Given the description of an element on the screen output the (x, y) to click on. 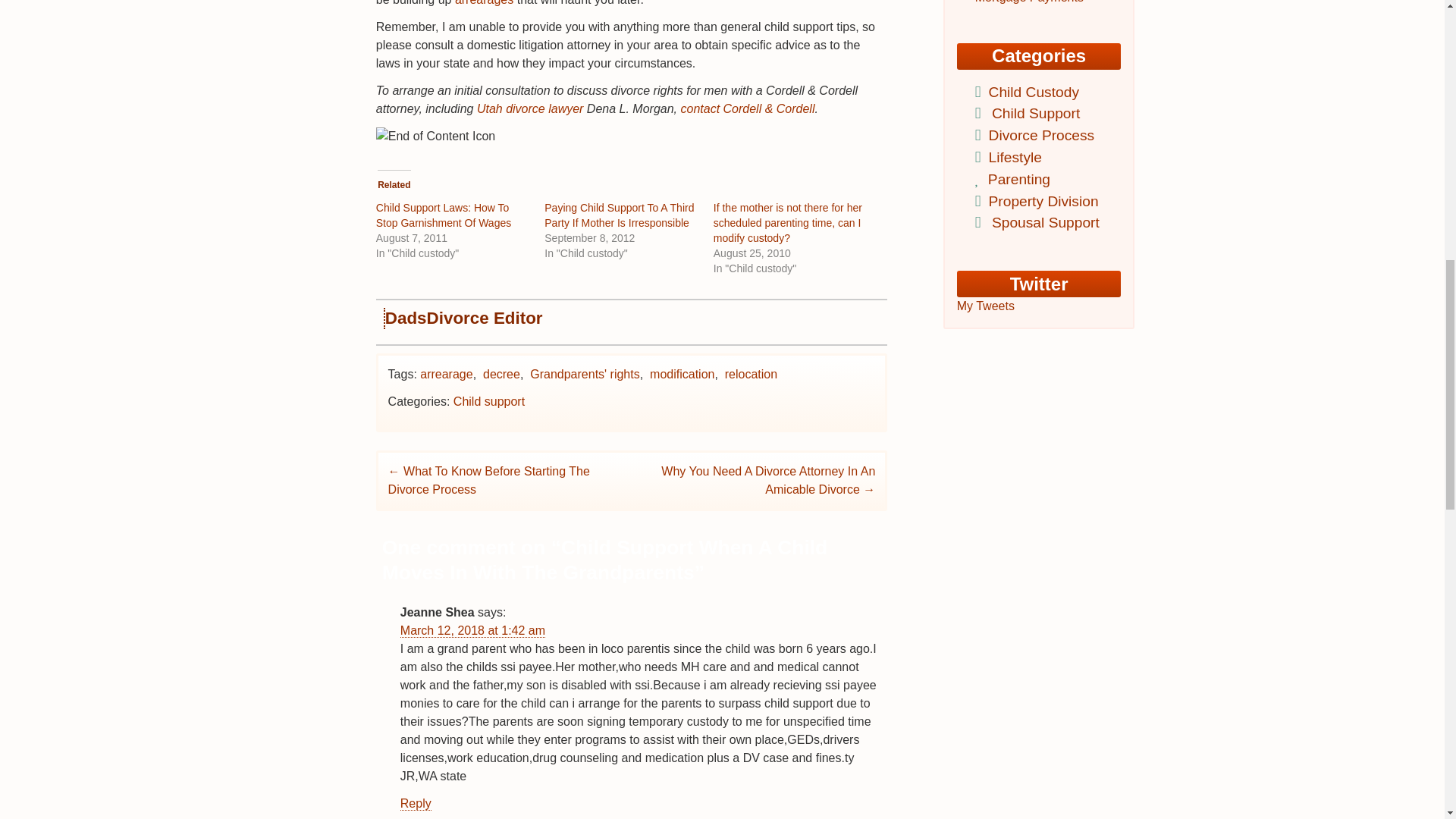
arrearage (483, 2)
Grandparents' rights (584, 373)
relocation (751, 373)
decree (501, 373)
All posts by DadsDivorce Editor (464, 317)
arrearage (445, 373)
Child Support Laws: How To Stop Garnishment Of Wages (443, 215)
Utah divorce lawyer (530, 108)
modification (681, 373)
Child Support Laws: How To Stop Garnishment Of Wages (443, 215)
arrearages (483, 2)
